Given the description of an element on the screen output the (x, y) to click on. 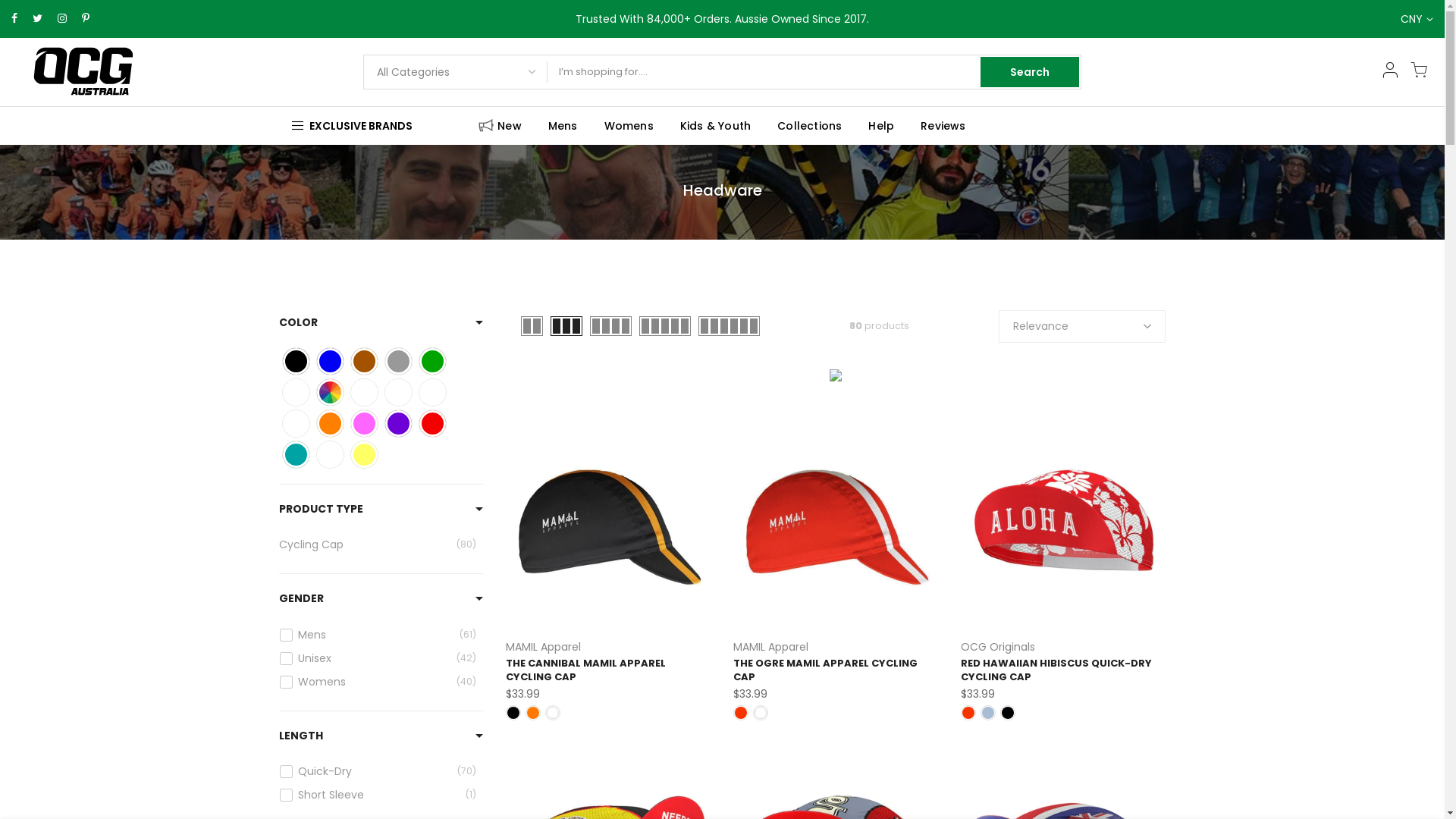
THE OGRE MAMIL APPAREL CYCLING CAP Element type: text (825, 669)
Cycling Cap
80 Element type: text (377, 544)
 White (6) Element type: hover (329, 454)
 Blue (8) Element type: hover (329, 360)
 Brown (1) Element type: hover (363, 360)
Reviews Element type: text (943, 125)
Search Element type: text (1029, 71)
RED HAWAIIAN HIBISCUS QUICK-DRY CYCLING CAP Element type: text (1055, 669)
LENGTH Element type: text (301, 735)
Collections Element type: text (809, 125)
 Red (6) Element type: hover (431, 422)
 Teal (1) Element type: hover (295, 454)
Womens Element type: text (628, 125)
THE CANNIBAL MAMIL APPAREL CYCLING CAP Element type: text (585, 669)
 Lime (2) Element type: hover (295, 392)
 Multi (4) Element type: hover (329, 392)
COLOR Element type: text (298, 322)
Mens Element type: text (562, 125)
Mens
61 Element type: text (377, 633)
Kids & Youth Element type: text (714, 125)
 Yellow (7) Element type: hover (363, 454)
 Pink (2) Element type: hover (363, 422)
 Orange (2) Element type: hover (329, 422)
 Navy Blue (1) Element type: hover (295, 422)
Short Sleeve
1 Element type: text (377, 794)
 Purple (1) Element type: hover (398, 422)
MAMIL Apparel Element type: text (542, 646)
Unisex
42 Element type: text (377, 658)
New Element type: text (499, 125)
 Multi Color (16) Element type: hover (398, 392)
OCG Originals Element type: text (997, 646)
PRODUCT TYPE Element type: text (321, 507)
 Black (12) Element type: hover (295, 360)
Relevance Element type: text (1081, 326)
GENDER Element type: text (301, 598)
 Green (11) Element type: hover (431, 360)
 Gray (1) Element type: hover (398, 360)
Quick-Dry
70 Element type: text (377, 771)
 Multi  Color (2) Element type: hover (363, 392)
Womens
40 Element type: text (377, 680)
Help Element type: text (881, 125)
 Multi-Color (9) Element type: hover (431, 392)
MAMIL Apparel Element type: text (770, 646)
